Given the description of an element on the screen output the (x, y) to click on. 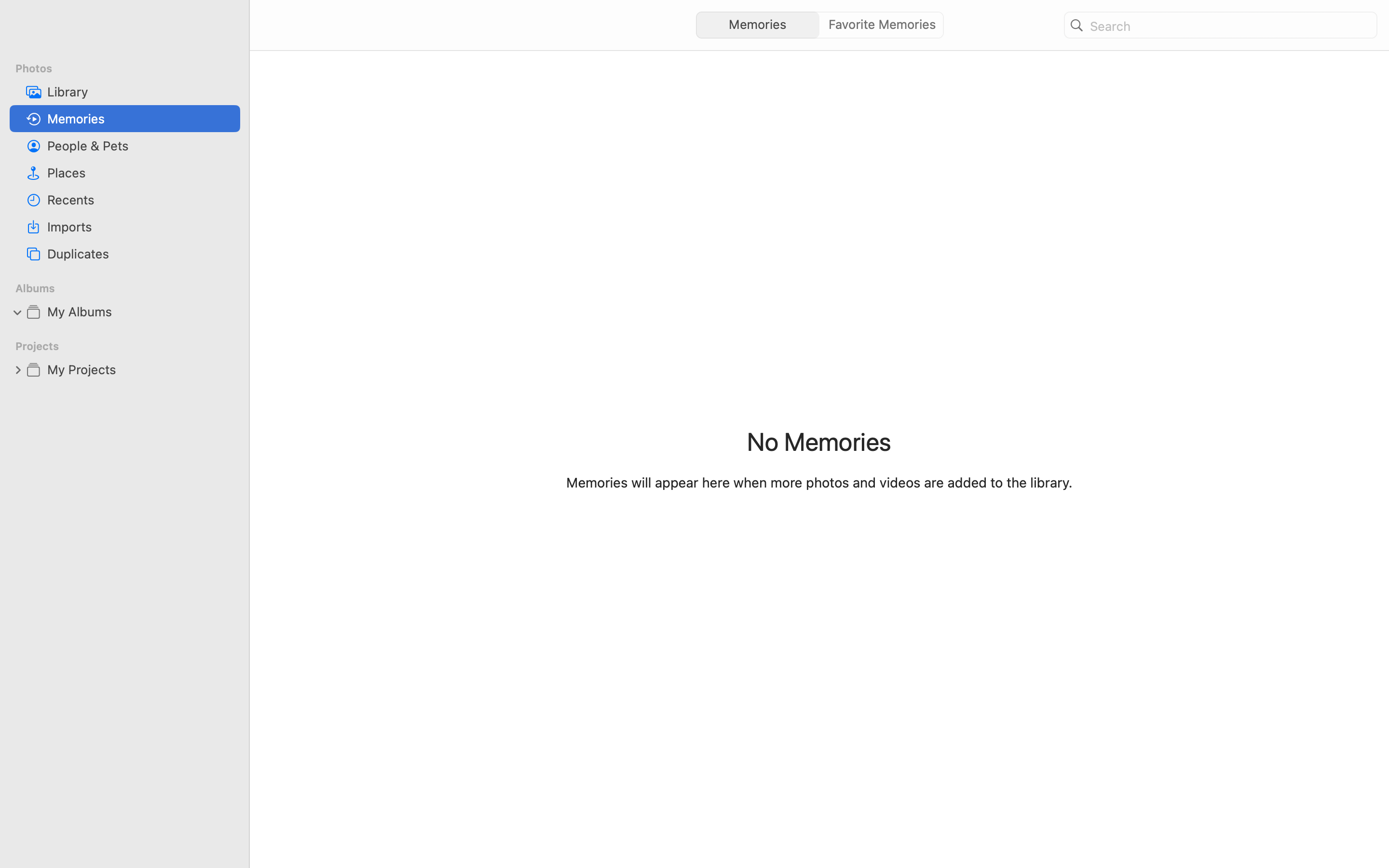
People & Pets Element type: AXStaticText (139, 145)
0 Element type: AXDisclosureTriangle (17, 368)
1 Element type: AXRadioButton (754, 24)
No Memories Element type: AXStaticText (819, 441)
